Given the description of an element on the screen output the (x, y) to click on. 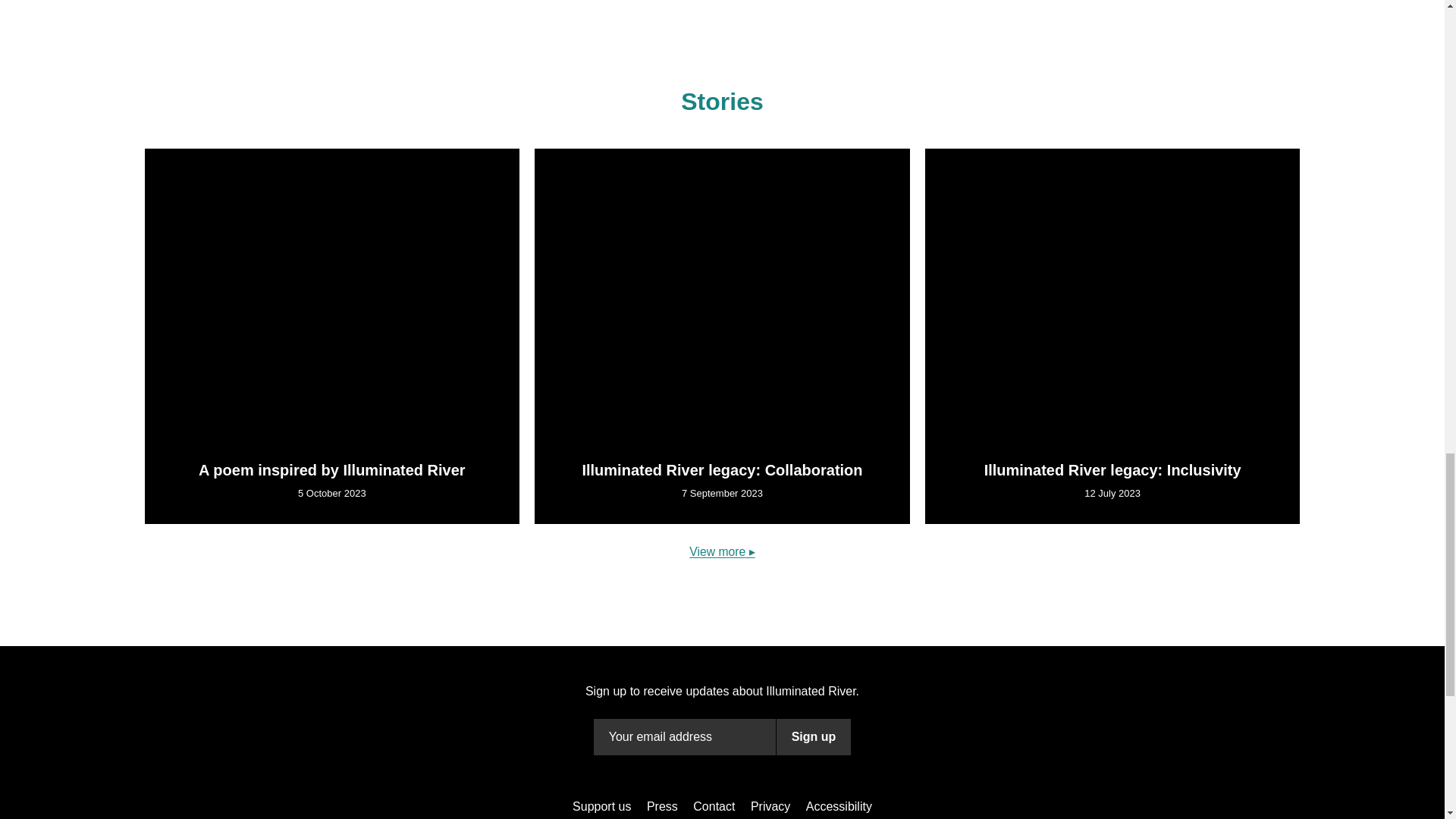
Stories (721, 101)
View more (721, 176)
Sign up (813, 737)
Press (662, 431)
Accessibility (838, 431)
Privacy (770, 431)
Support us (601, 431)
Sign up (813, 361)
Contact (714, 431)
